Given the description of an element on the screen output the (x, y) to click on. 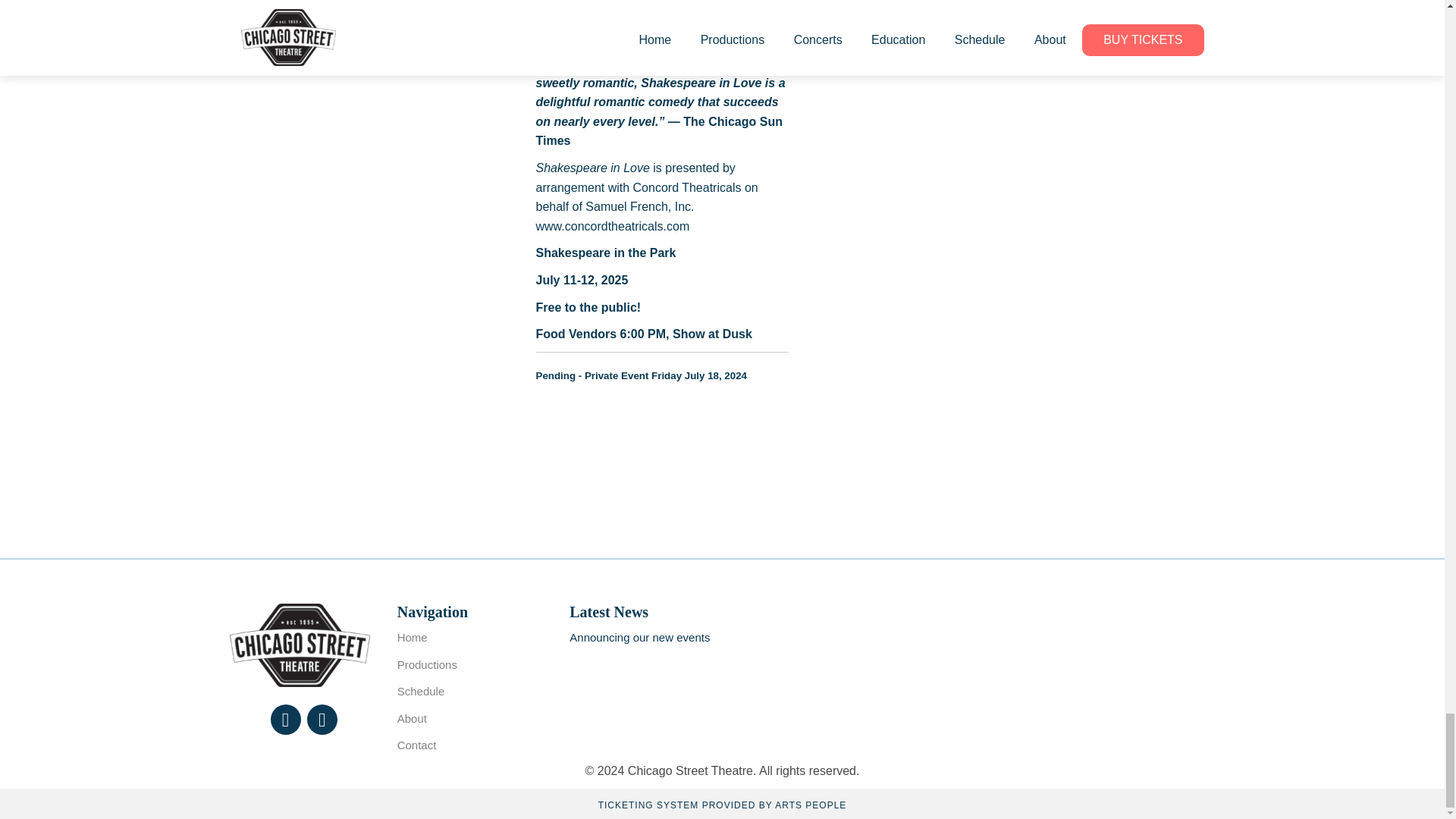
Arts People (809, 805)
ARTS PEOPLE (809, 805)
About (411, 717)
Contact (416, 744)
Schedule (421, 690)
Productions (427, 664)
Home (412, 636)
